Given the description of an element on the screen output the (x, y) to click on. 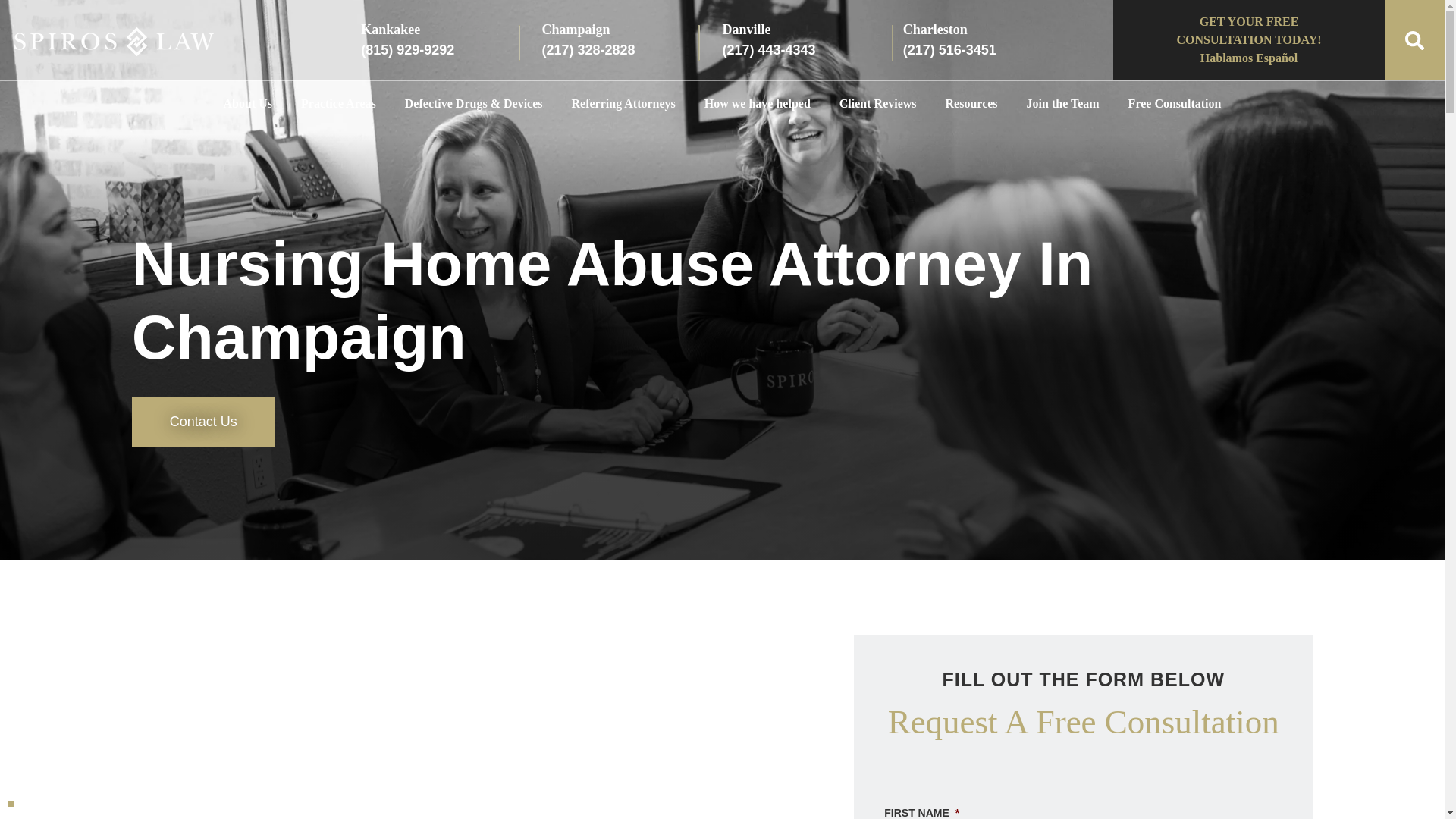
Practice Areas (338, 103)
Client Reviews (877, 103)
Client Reviews (877, 103)
About Us (247, 103)
Resources (971, 103)
How we have helped (756, 103)
Referring Attorneys (622, 103)
Join the Team (1063, 103)
Practice Areas (338, 103)
Resources (971, 103)
Contact Us (203, 421)
Free Consultation (1174, 103)
About Us (247, 103)
Referring Attorneys (622, 103)
Join the Team (1063, 103)
